Given the description of an element on the screen output the (x, y) to click on. 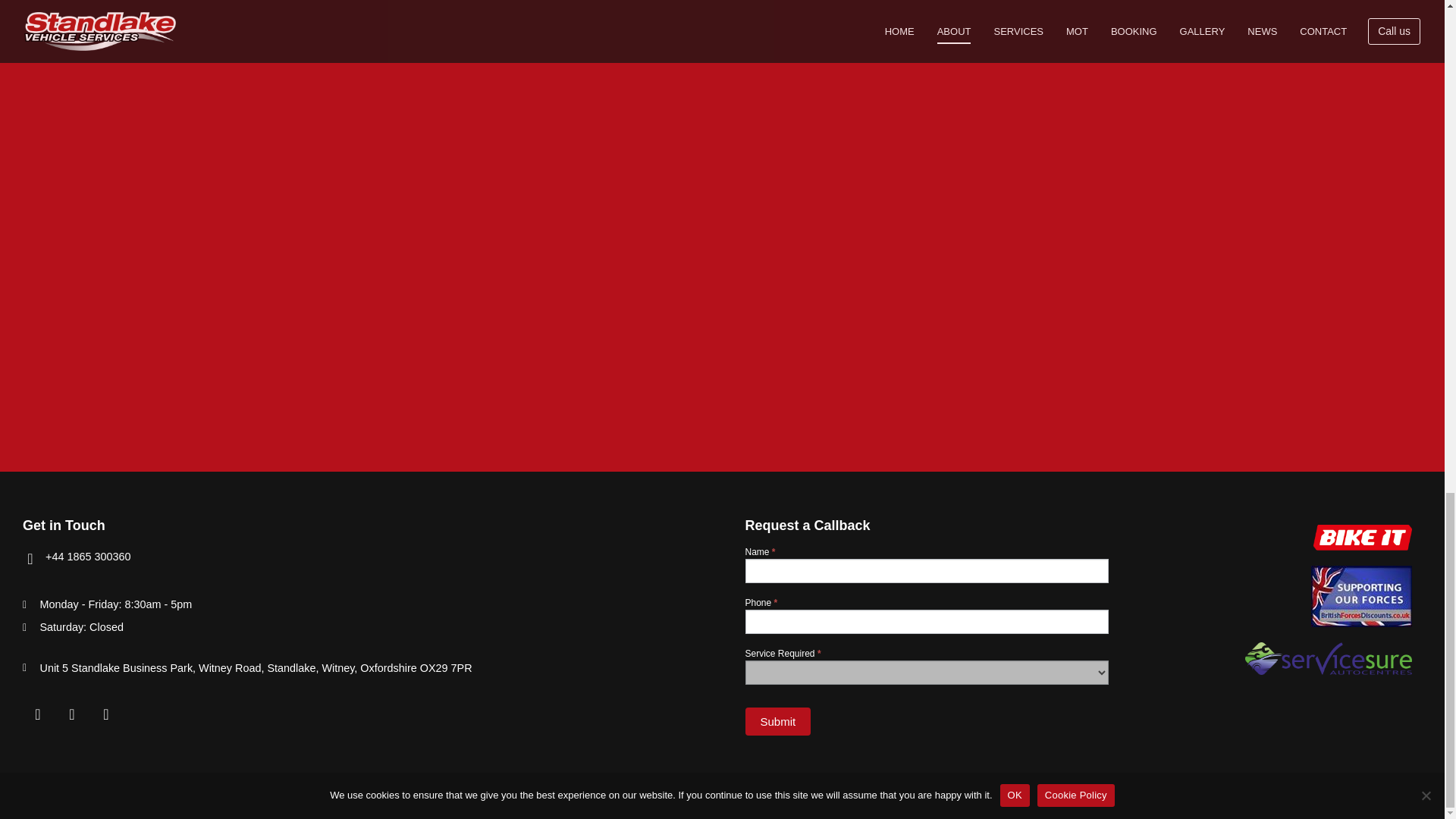
Call Standlake Vehicle Services (88, 556)
